Given the description of an element on the screen output the (x, y) to click on. 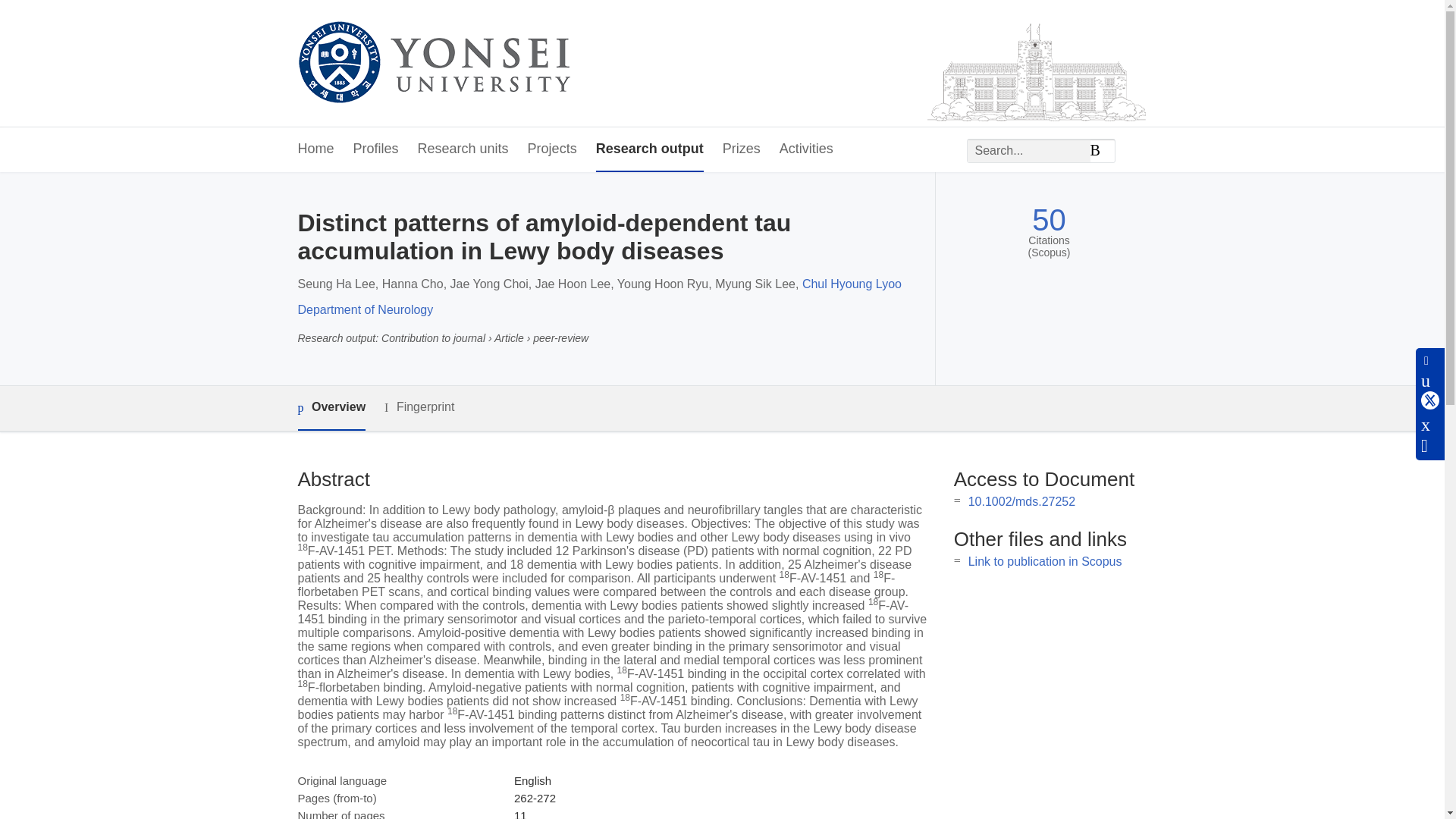
Home (315, 149)
Yonsei University Home (433, 63)
Projects (551, 149)
Link to publication in Scopus (1045, 561)
Chul Hyoung Lyoo (851, 283)
Department of Neurology (364, 309)
Prizes (741, 149)
50 (1048, 220)
Research output (649, 149)
Research units (462, 149)
Profiles (375, 149)
Overview (331, 407)
Activities (805, 149)
Fingerprint (419, 407)
